Given the description of an element on the screen output the (x, y) to click on. 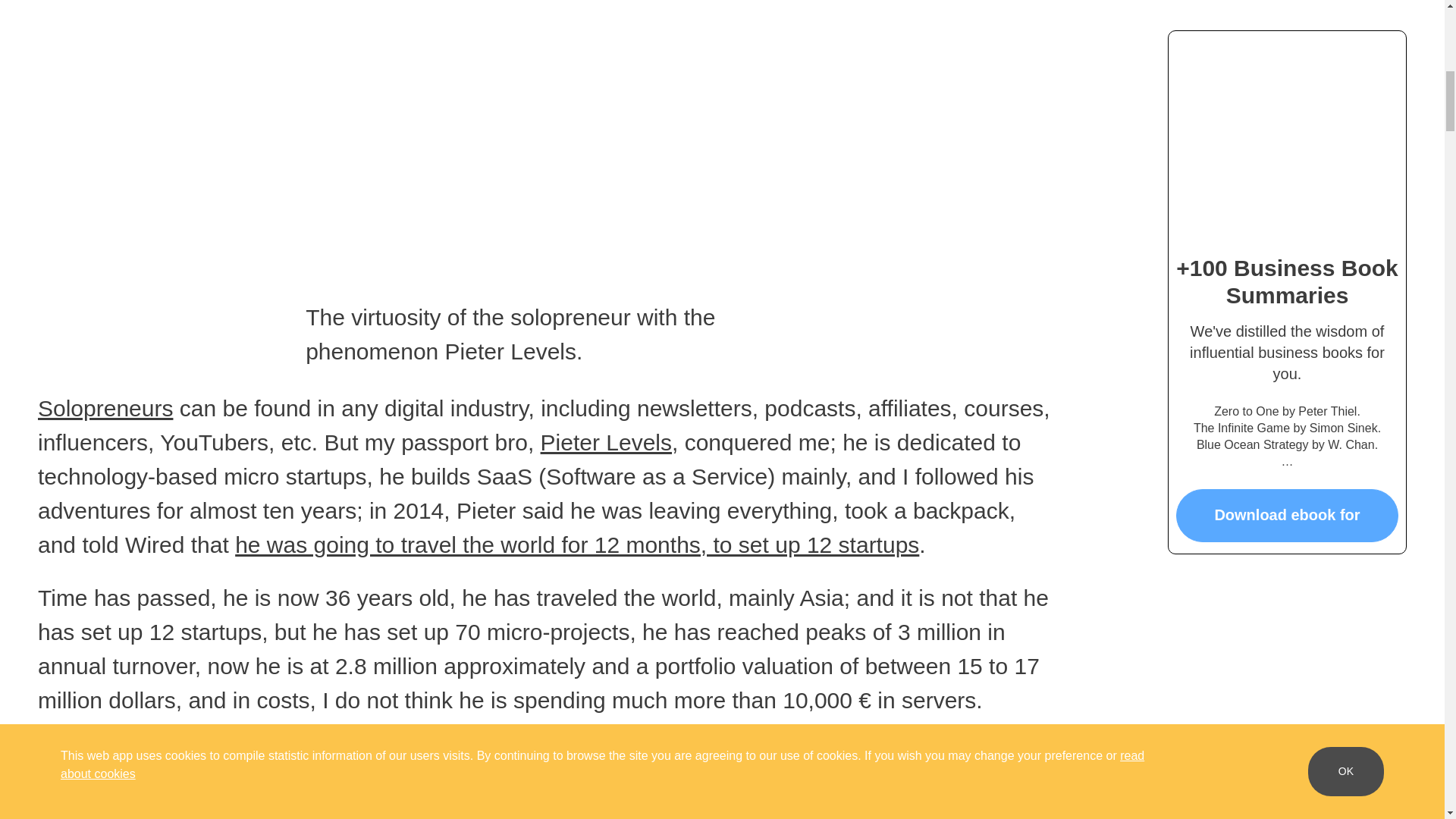
Download ebook for free (1286, 501)
Pieter Levels (605, 442)
Solopreneurs (105, 407)
